Given the description of an element on the screen output the (x, y) to click on. 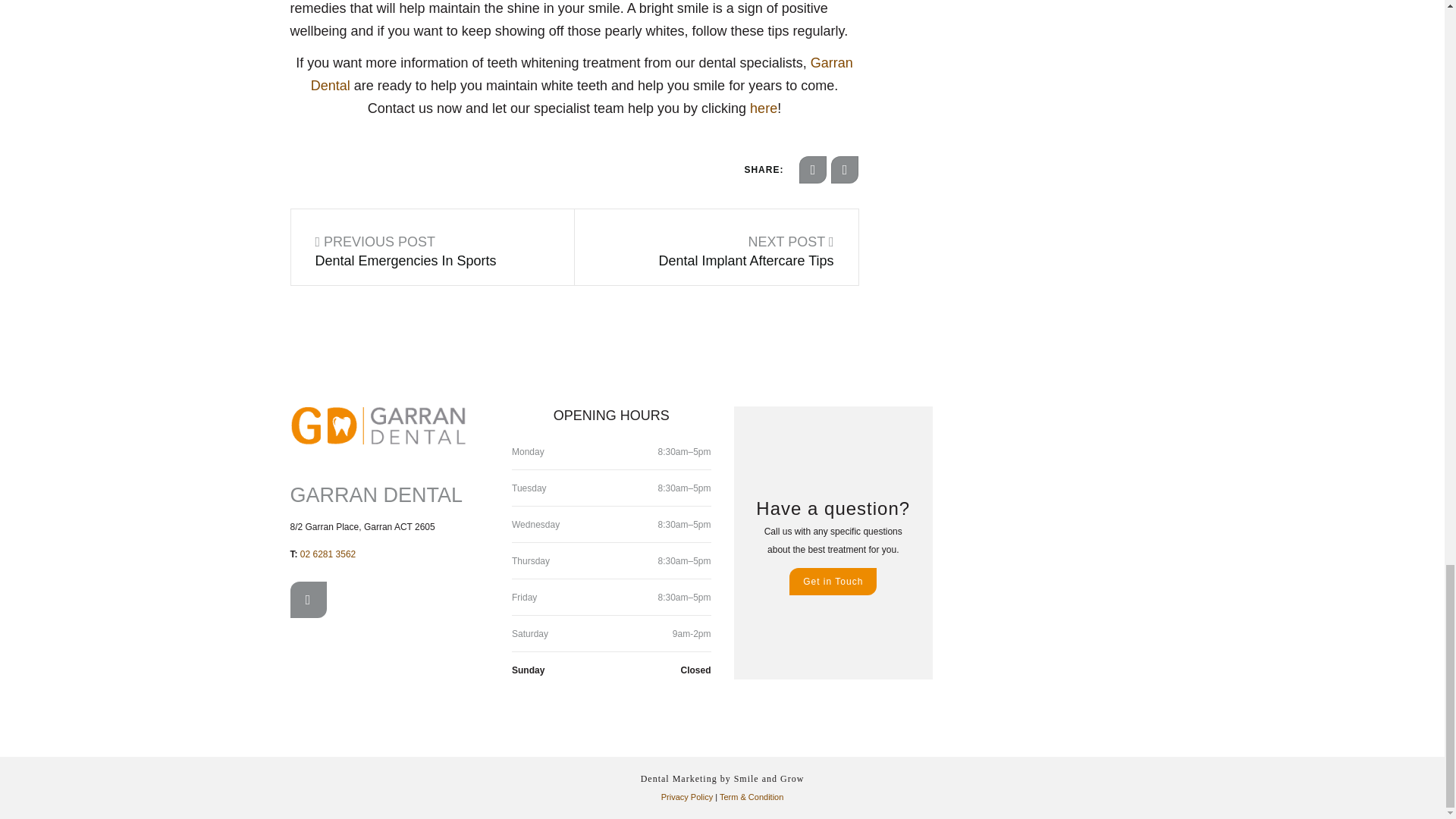
Tweet (845, 169)
Share on Facebook (813, 169)
